Given the description of an element on the screen output the (x, y) to click on. 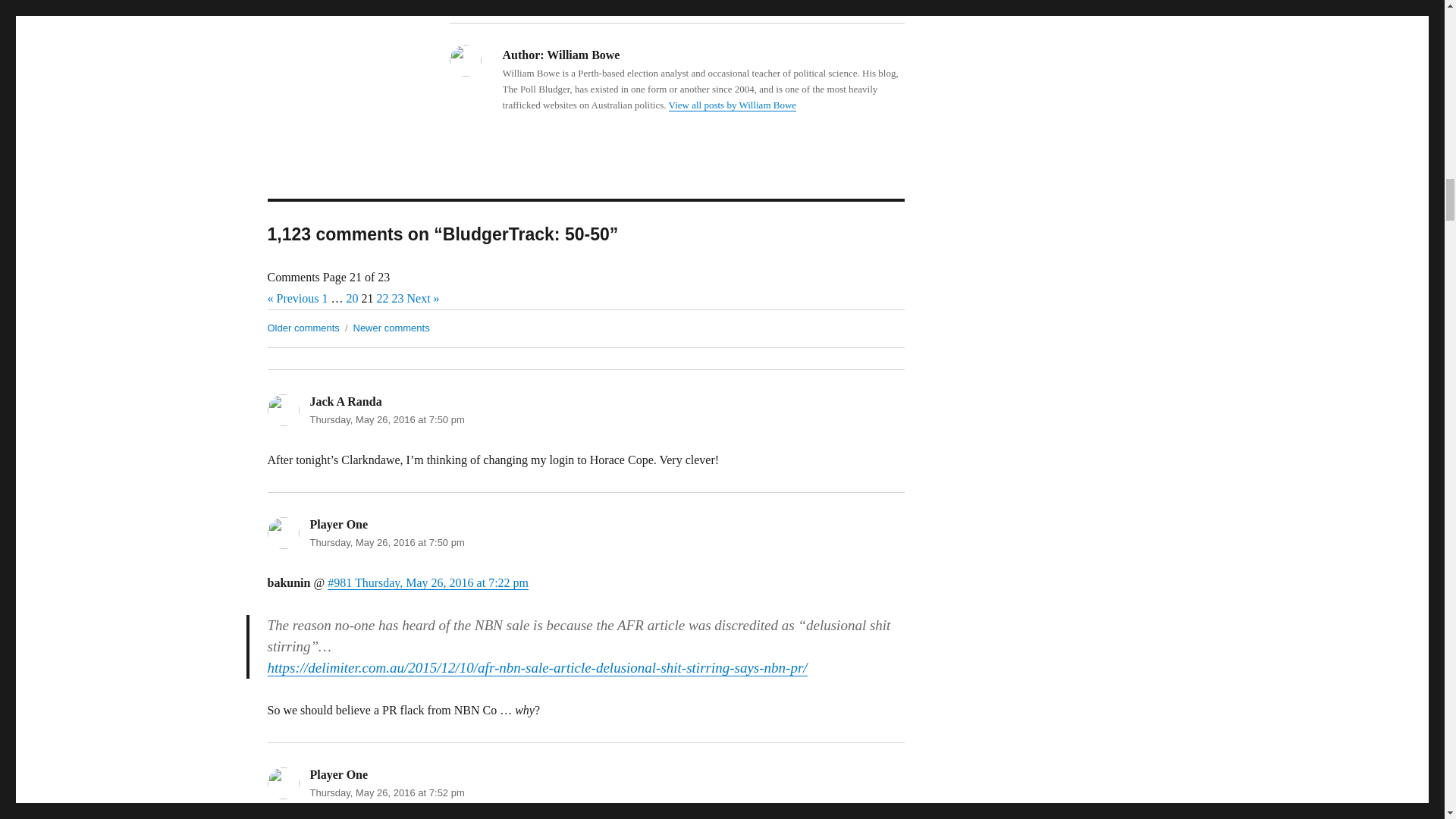
22 (381, 297)
Older comments (302, 327)
Thursday, May 26, 2016 at 7:50 pm (386, 542)
Thursday, May 26, 2016 at 7:50 pm (386, 419)
Thursday, May 26, 2016 at 7:52 pm (386, 792)
Newer comments (391, 327)
23 (397, 297)
20 (352, 297)
View all posts by William Bowe (732, 104)
